Given the description of an element on the screen output the (x, y) to click on. 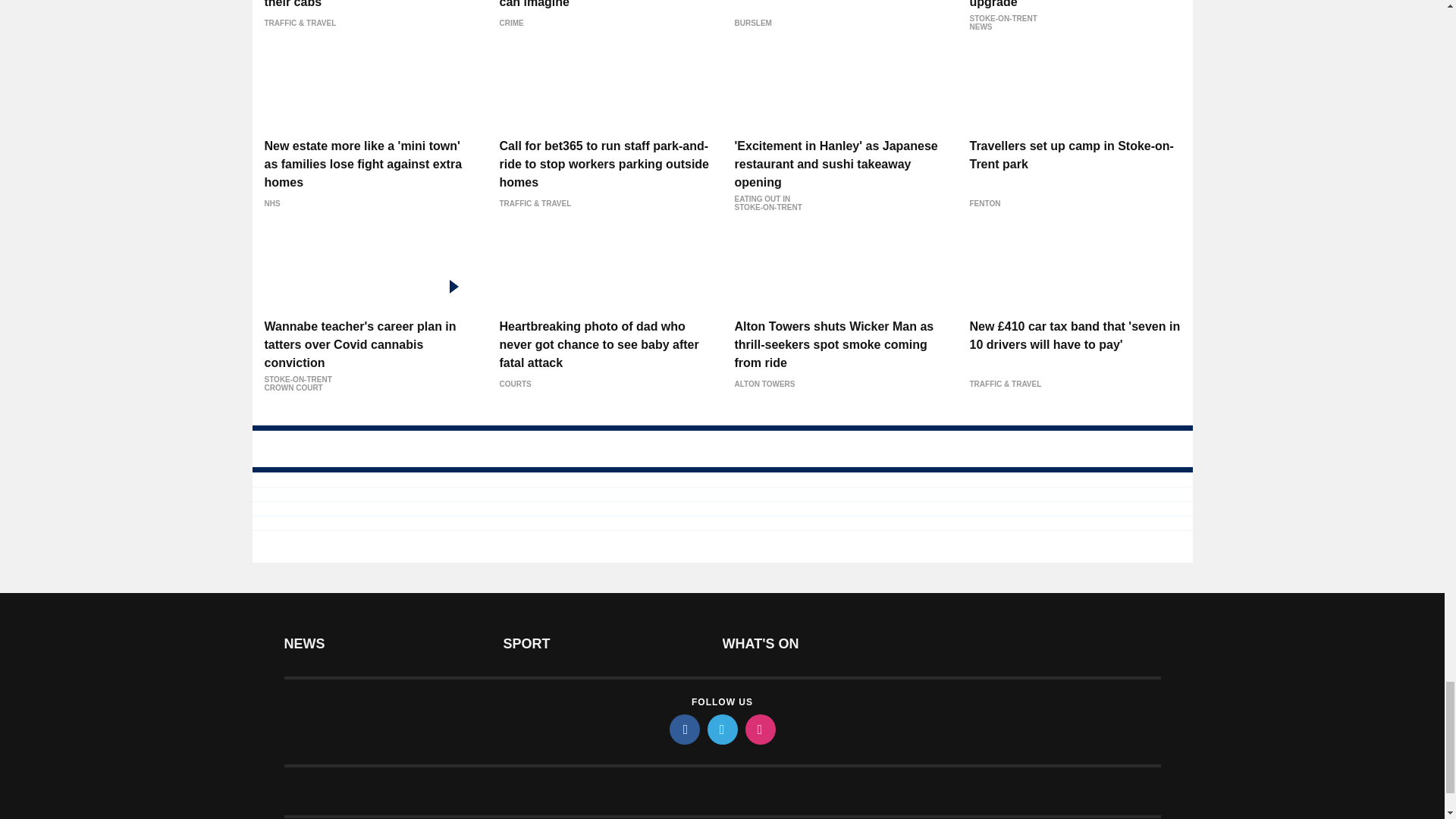
facebook (683, 729)
instagram (759, 729)
twitter (721, 729)
